Given the description of an element on the screen output the (x, y) to click on. 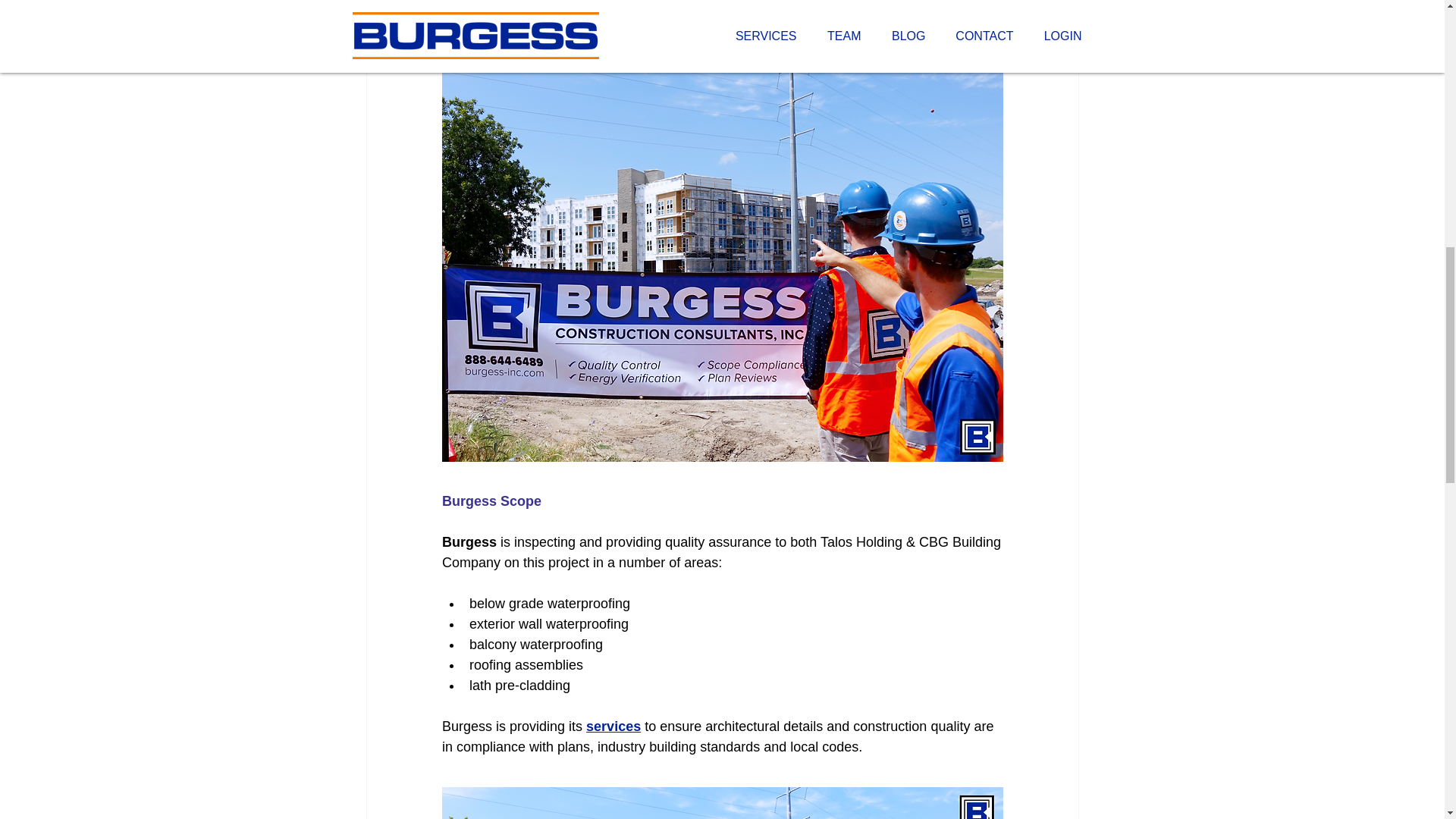
services (613, 726)
